Given the description of an element on the screen output the (x, y) to click on. 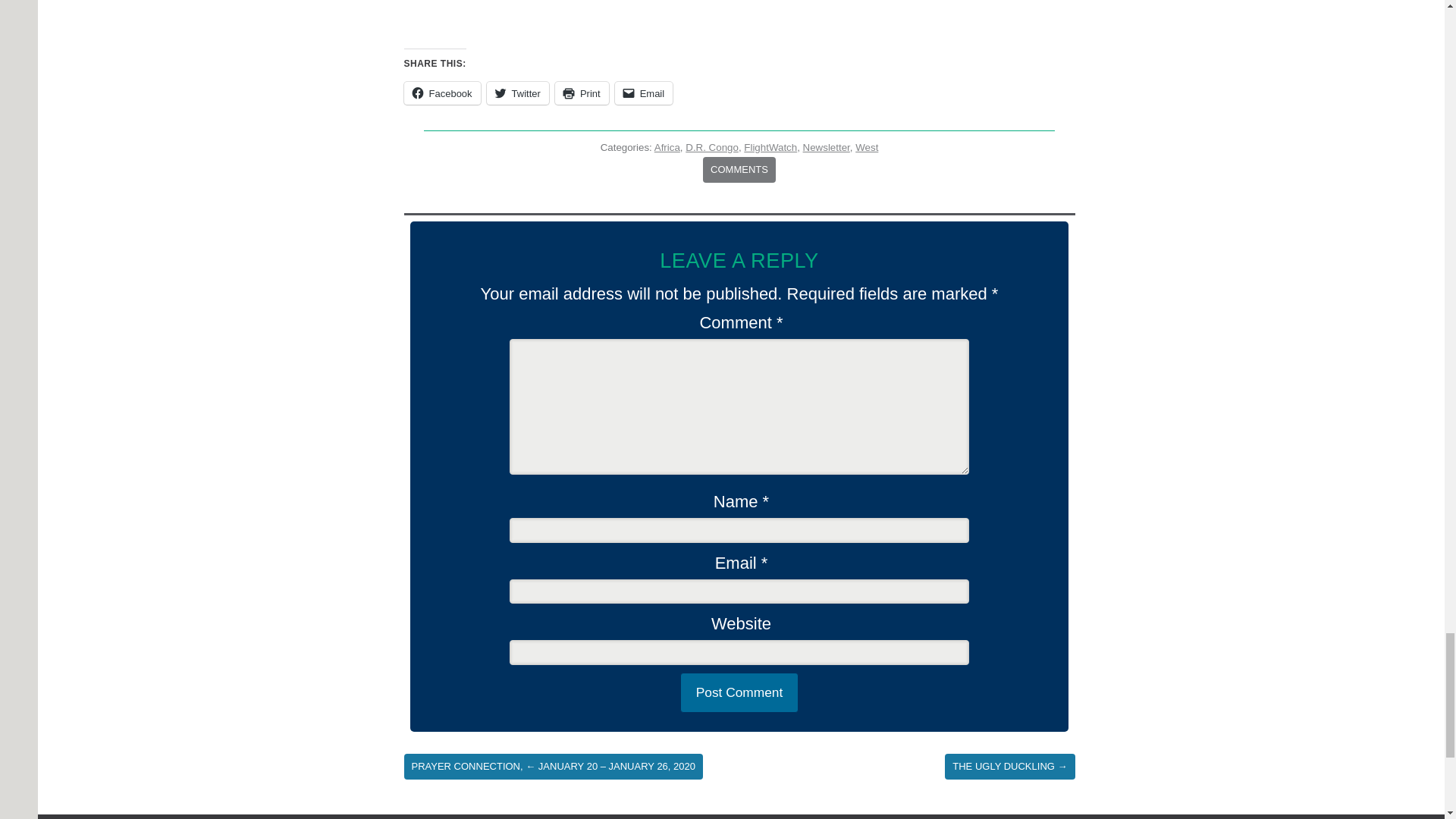
Twitter (517, 92)
Click to print (581, 92)
Email (643, 92)
Click to share on Facebook (441, 92)
Africa (666, 147)
Post Comment (739, 692)
Click to share on Twitter (517, 92)
Facebook (441, 92)
Click to email a link to a friend (643, 92)
Print (581, 92)
